Given the description of an element on the screen output the (x, y) to click on. 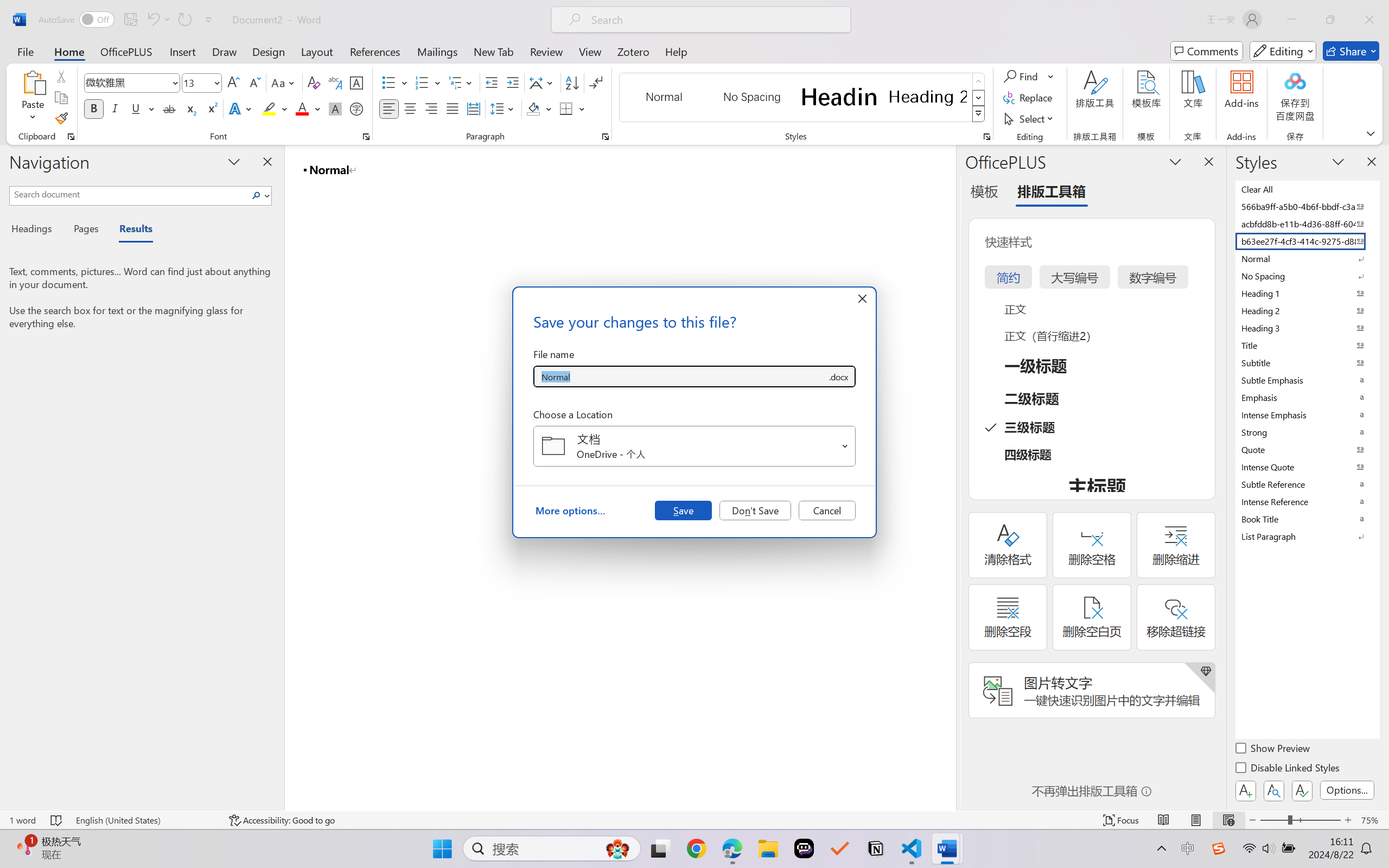
Heading 1 (839, 96)
Intense Reference (1306, 501)
Class: NetUIButton (1301, 790)
Multilevel List (461, 82)
Layout (316, 51)
Center (409, 108)
Results (130, 229)
